Given the description of an element on the screen output the (x, y) to click on. 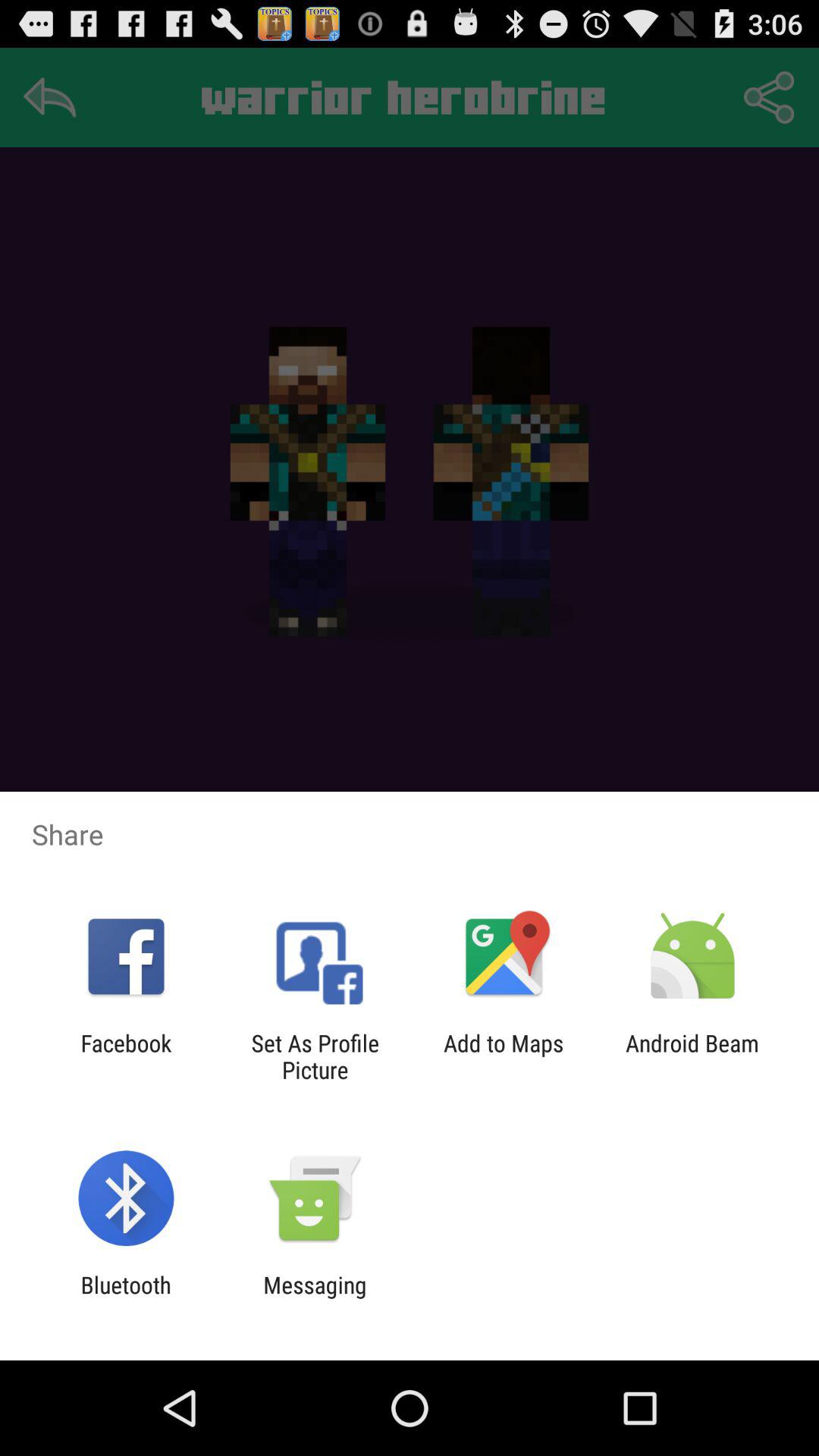
turn off icon next to set as profile (125, 1056)
